Given the description of an element on the screen output the (x, y) to click on. 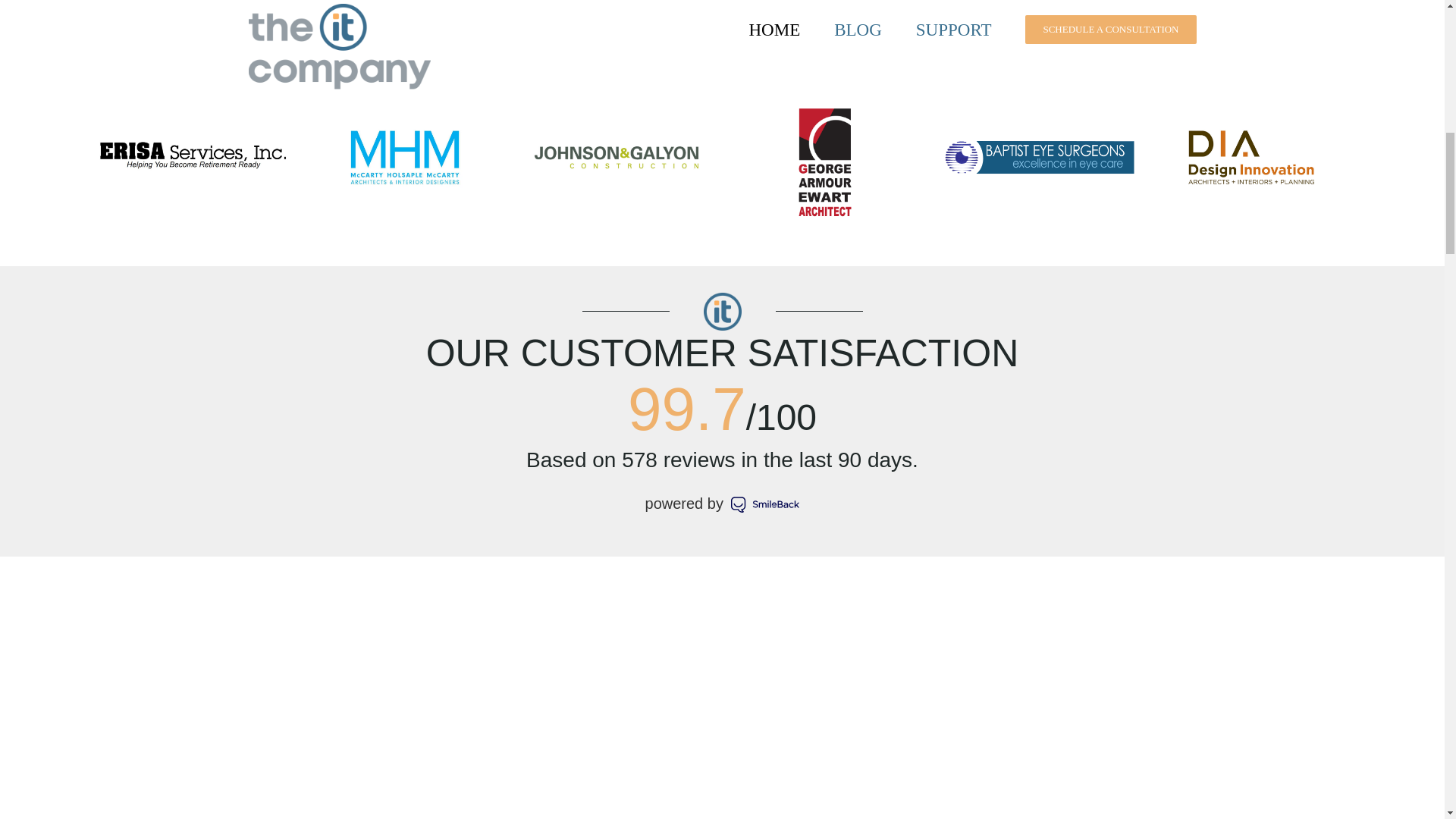
Previous (71, 165)
Next (1363, 165)
SmileBack (722, 507)
